Given the description of an element on the screen output the (x, y) to click on. 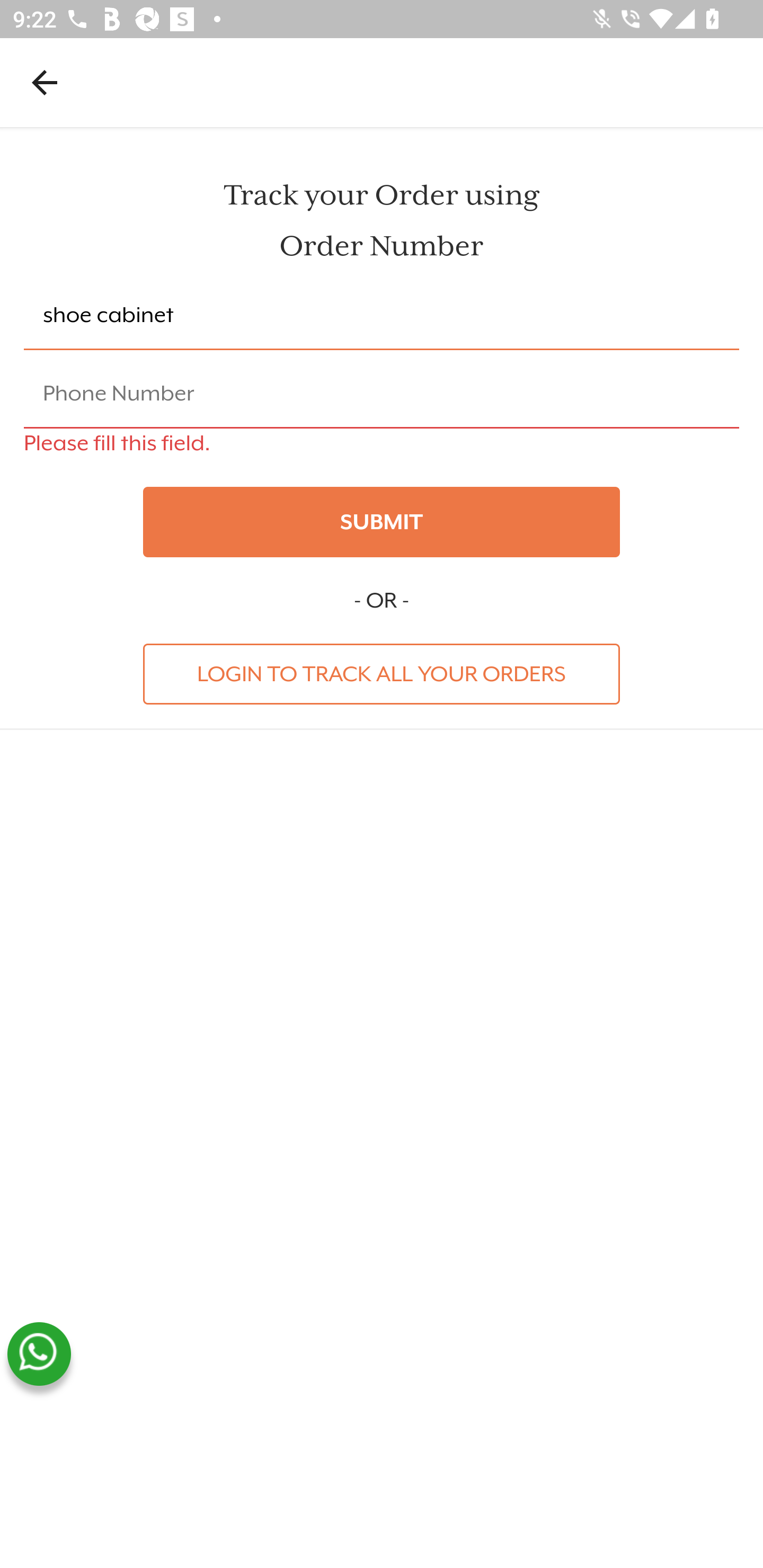
Navigate up (44, 82)
shoe cabinet (381, 315)
SUBMIT (381, 522)
LOGIN TO TRACK ALL YOUR ORDERS (381, 673)
whatsapp (38, 1353)
